Given the description of an element on the screen output the (x, y) to click on. 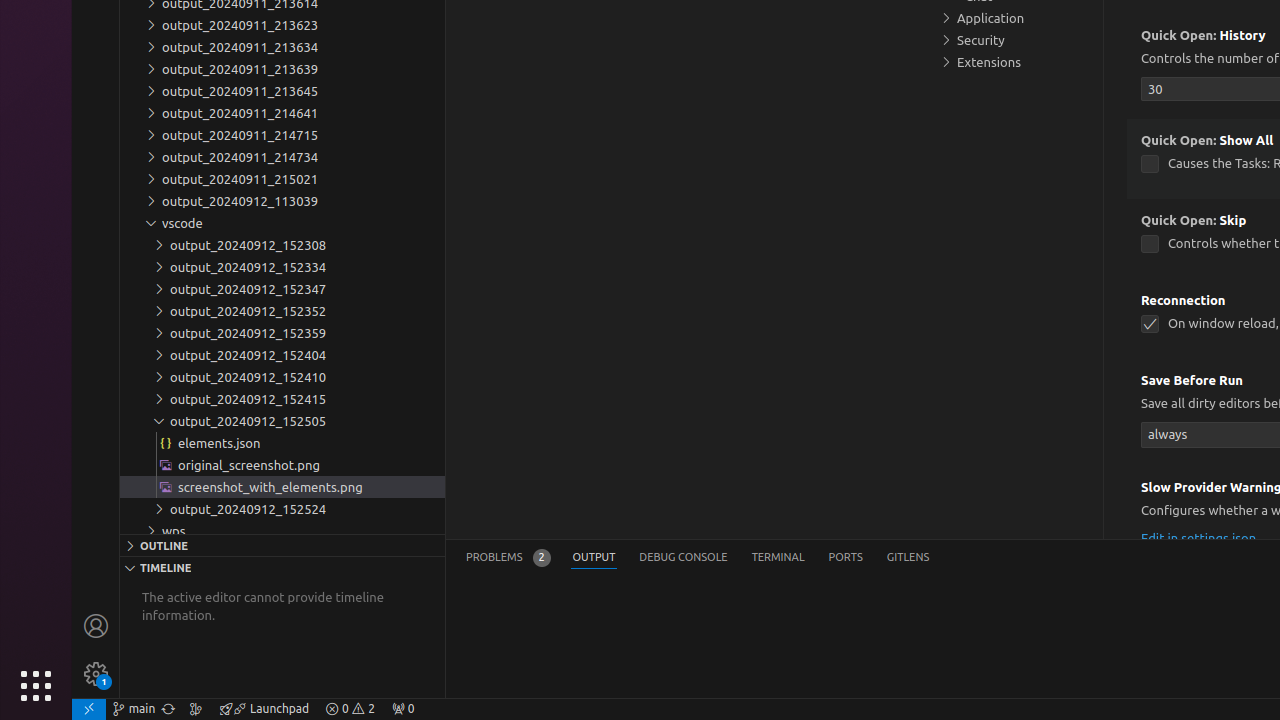
output_20240911_213645 Element type: tree-item (282, 91)
Extensions, group Element type: tree-item (1015, 62)
output_20240912_152524 Element type: tree-item (282, 509)
Active View Switcher Element type: page-tab-list (698, 557)
